Given the description of an element on the screen output the (x, y) to click on. 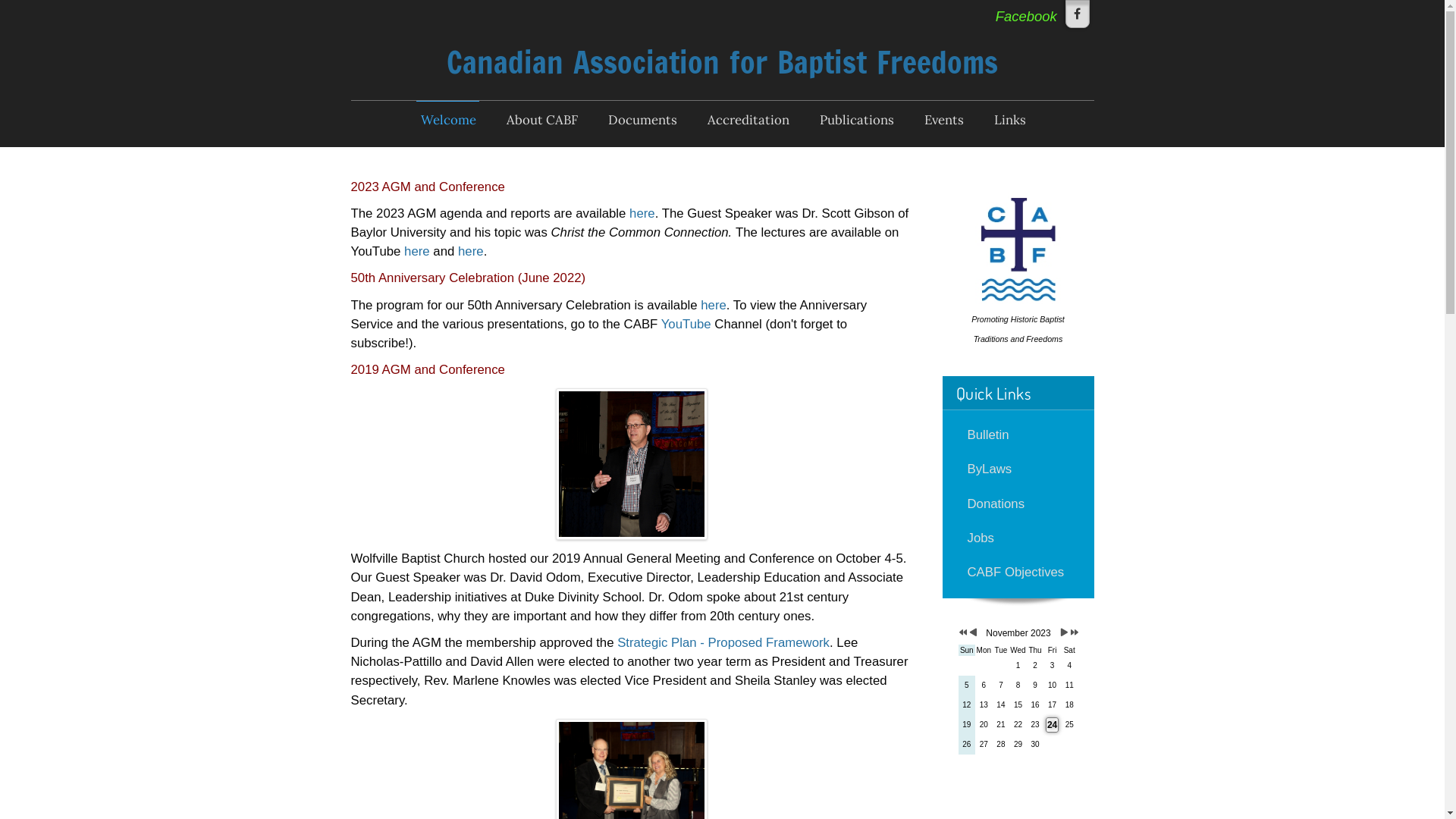
here Element type: text (713, 304)
Bulletin Element type: text (1017, 434)
Jobs Element type: text (1017, 537)
here Element type: text (470, 251)
Events Element type: text (942, 119)
Previous Year Element type: text (961, 633)
Next Month Element type: text (1064, 633)
Documents Element type: text (641, 119)
Links Element type: text (1008, 119)
here Element type: text (416, 251)
Accreditation Element type: text (746, 119)
About CABF Element type: text (541, 119)
Facebook Element type: hover (1076, 14)
here Element type: text (642, 213)
Strategic Plan - Proposed Framework Element type: text (723, 642)
Previous Month Element type: text (973, 633)
Publications Element type: text (855, 119)
Next Year Element type: text (1072, 633)
CABF Objectives Element type: text (1017, 572)
ByLaws Element type: text (1017, 468)
YouTube Element type: text (686, 323)
Canadian Association for Baptist Freedoms Element type: text (721, 62)
Donations Element type: text (1017, 503)
Welcome Element type: text (446, 119)
